Given the description of an element on the screen output the (x, y) to click on. 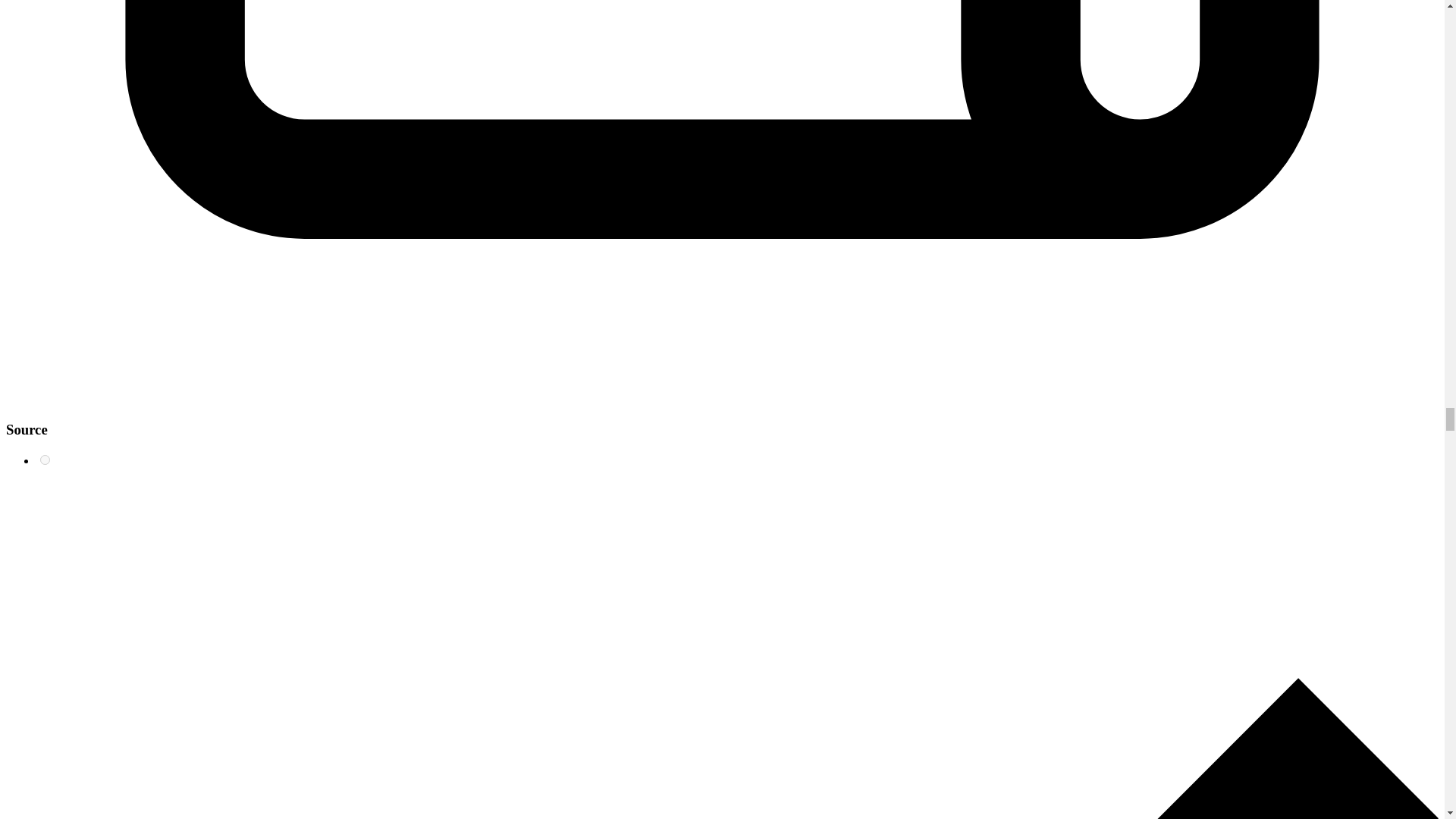
Research in Science Education (44, 460)
